Given the description of an element on the screen output the (x, y) to click on. 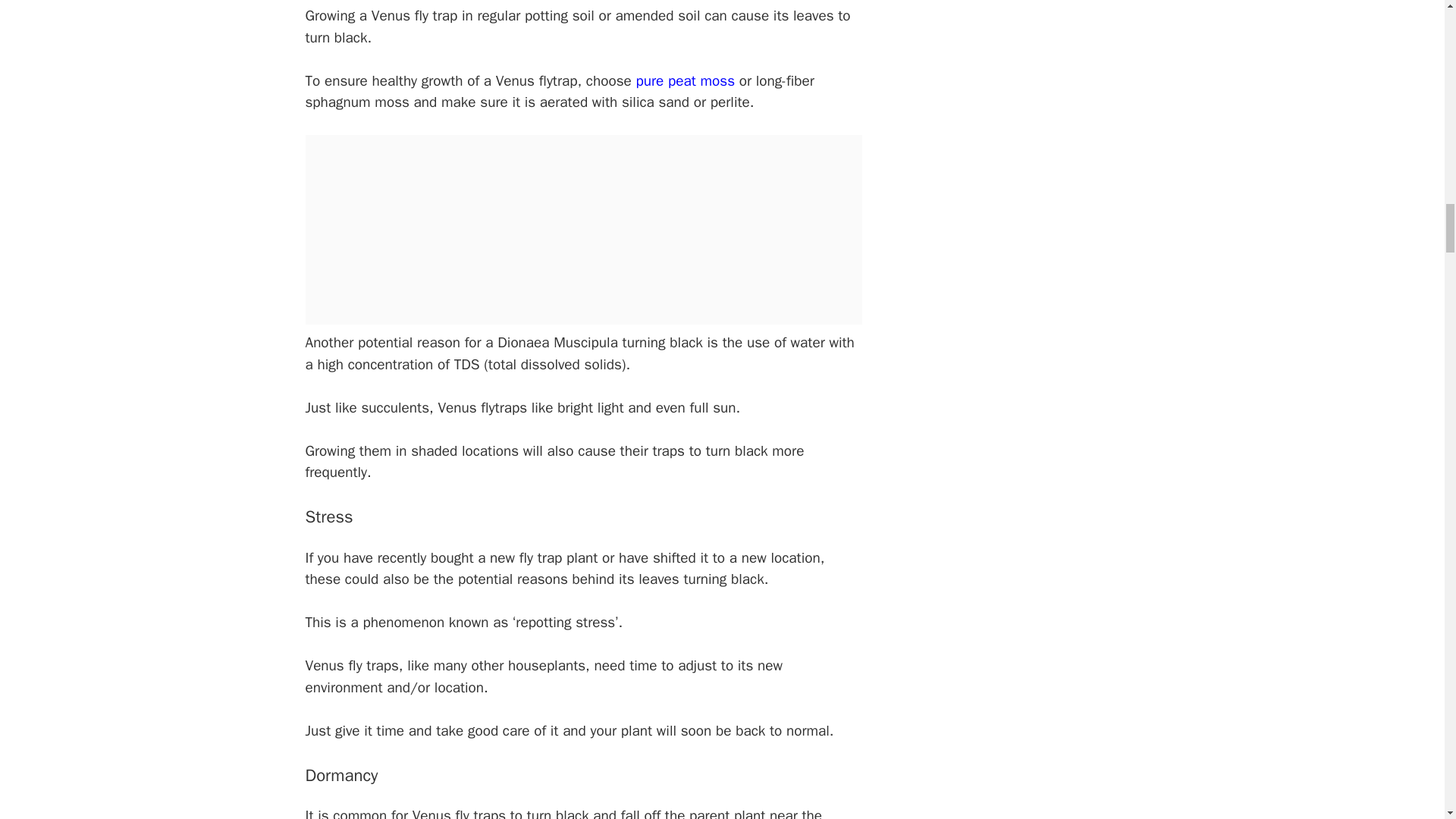
pure peat moss (685, 81)
